Given the description of an element on the screen output the (x, y) to click on. 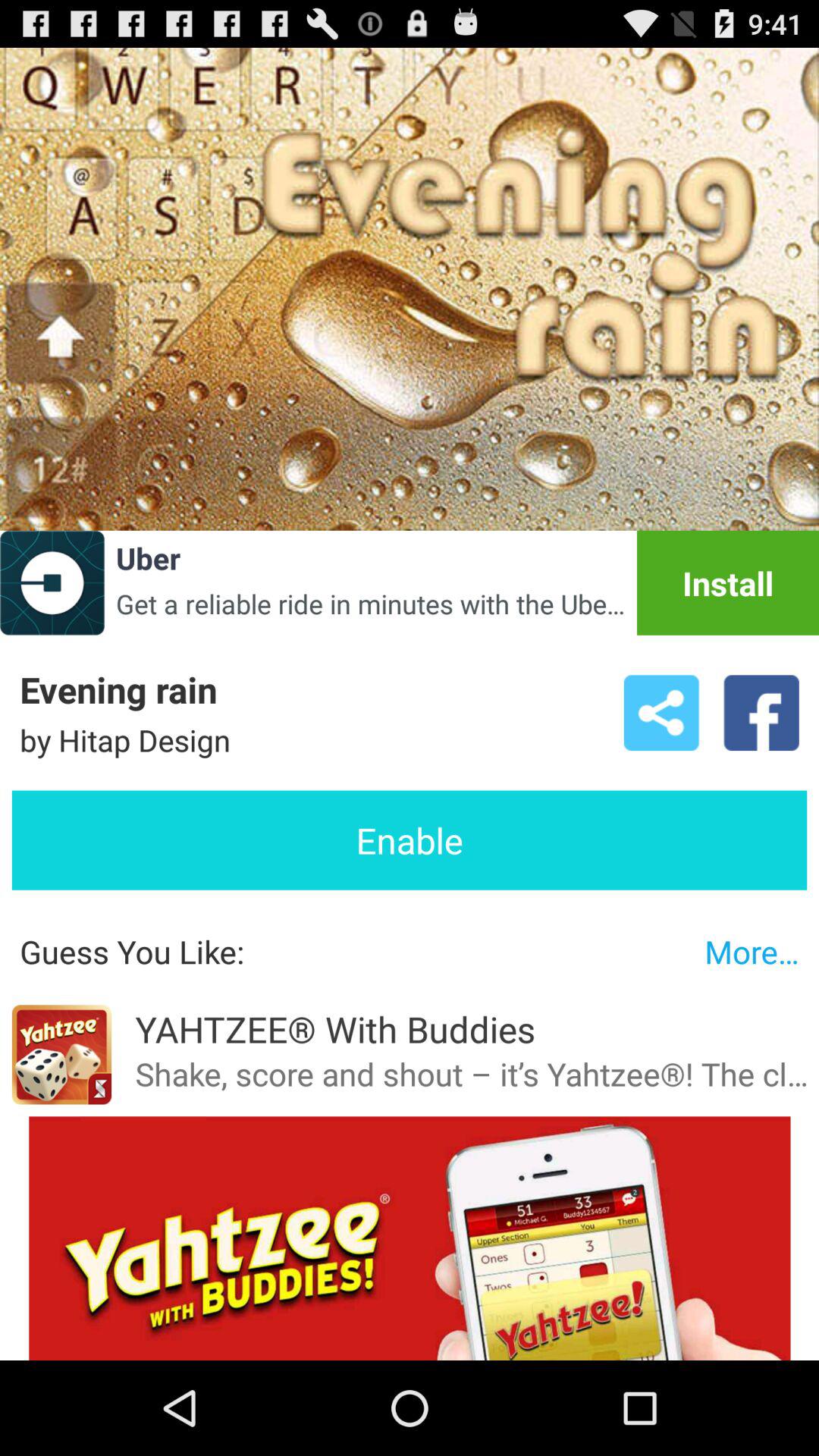
turn off icon above the enable icon (761, 712)
